Given the description of an element on the screen output the (x, y) to click on. 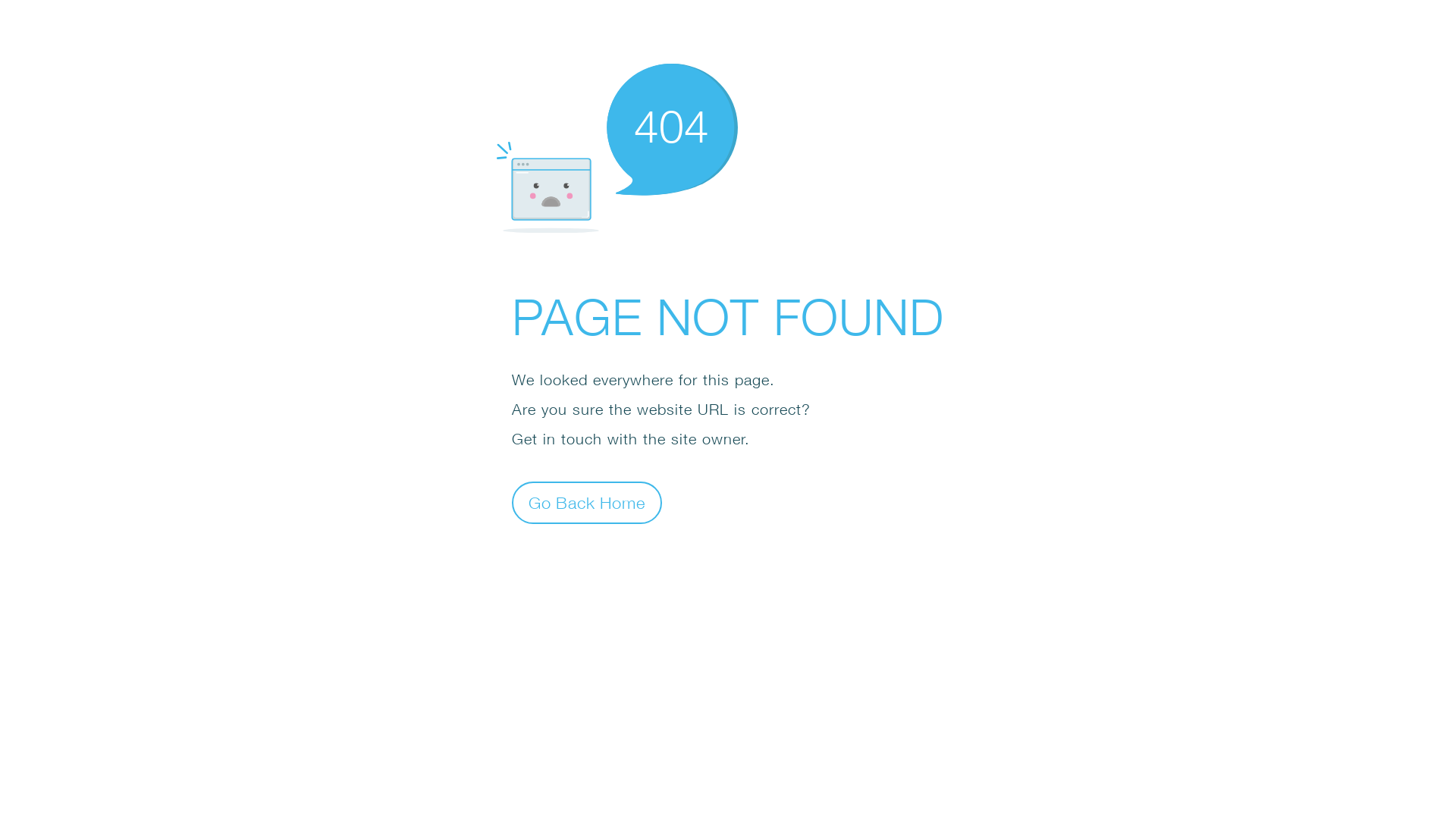
Go Back Home Element type: text (586, 502)
